Given the description of an element on the screen output the (x, y) to click on. 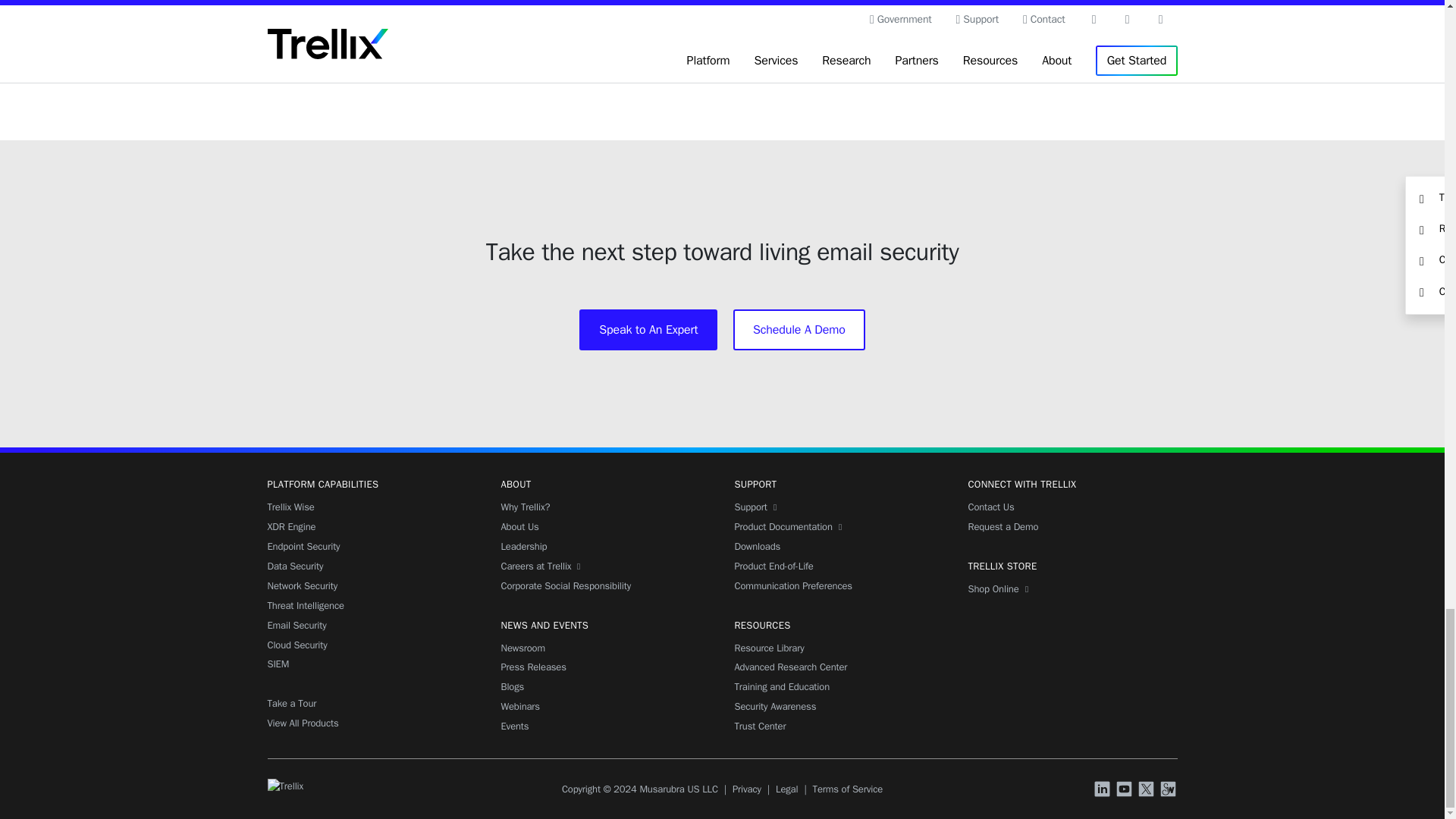
Trellix X (1147, 790)
Soulful Work (1169, 790)
Trellix YouTube (1125, 790)
Trellix (284, 785)
Trellix LinkedIn (1103, 790)
